Given the description of an element on the screen output the (x, y) to click on. 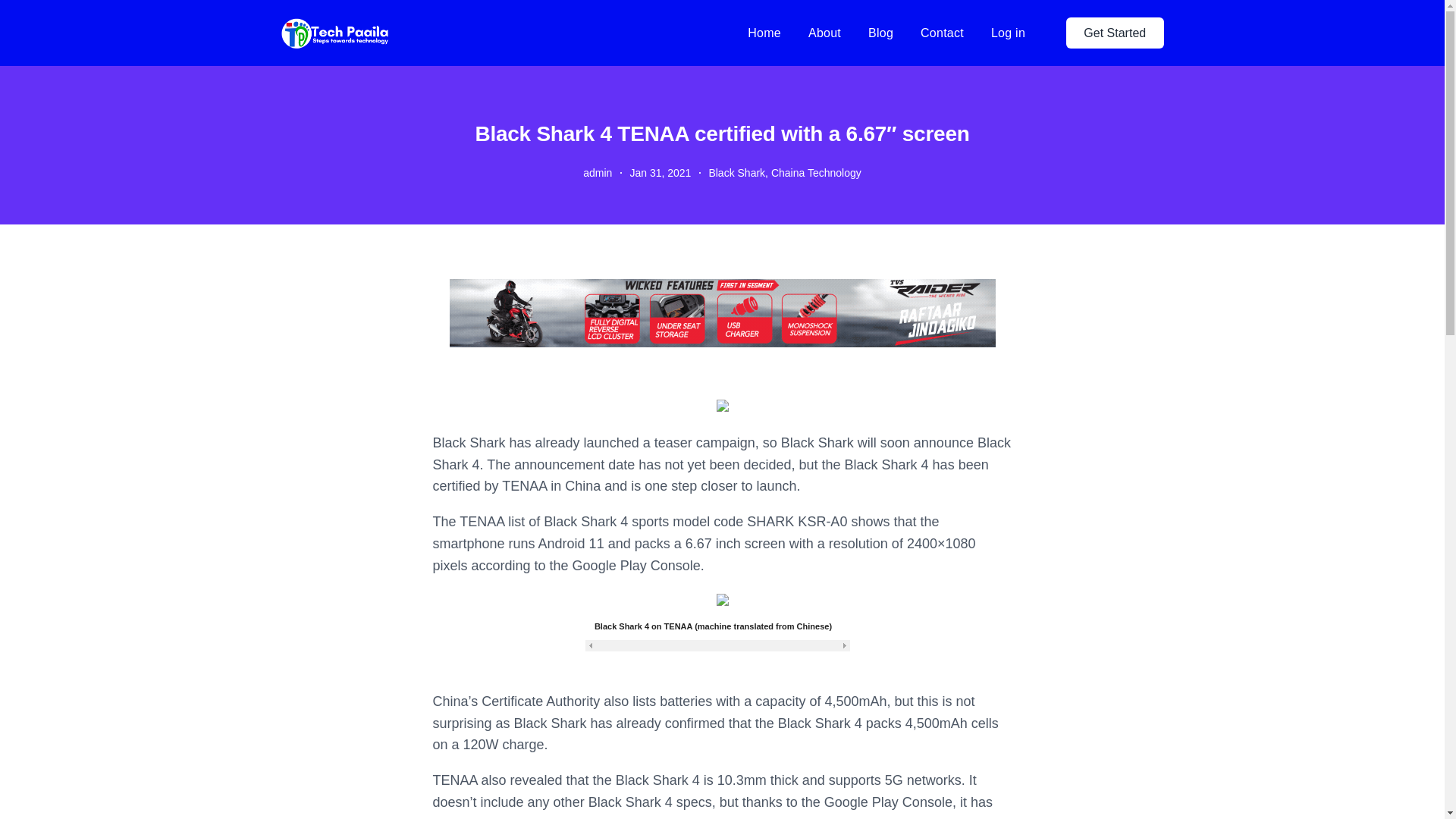
Log in (1008, 32)
About (824, 33)
Chaina Technology (816, 173)
Blog (880, 33)
Get Started (1114, 32)
Black Shark (736, 173)
Home (764, 33)
Contact (941, 33)
